Given the description of an element on the screen output the (x, y) to click on. 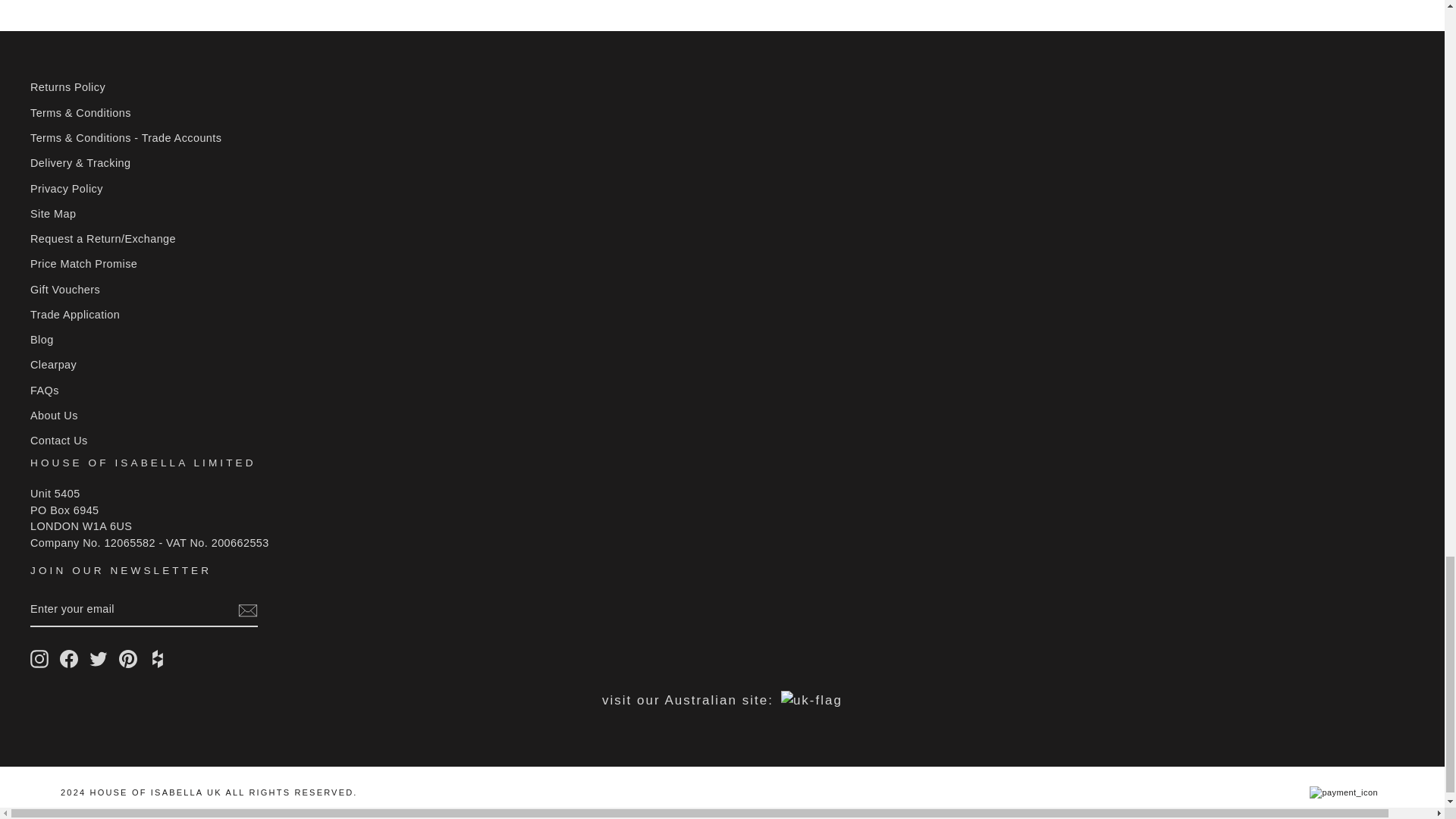
House of Isabella UK on Twitter (97, 659)
House of Isabella UK on Instagram (39, 659)
House of Isabella UK on Pinterest (127, 659)
House of Isabella UK on Facebook (68, 659)
